Given the description of an element on the screen output the (x, y) to click on. 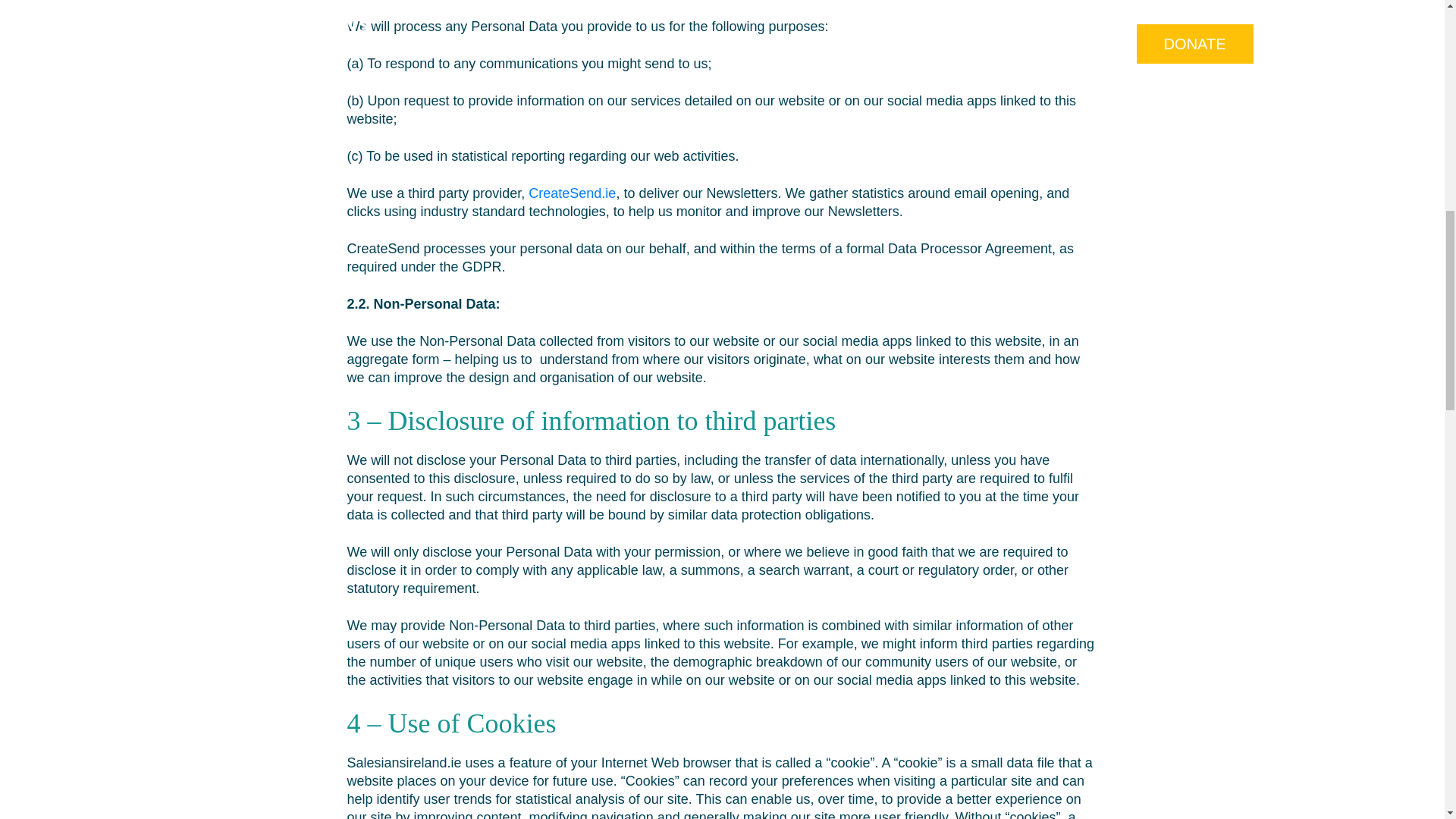
CreateSend.ie (571, 192)
